Given the description of an element on the screen output the (x, y) to click on. 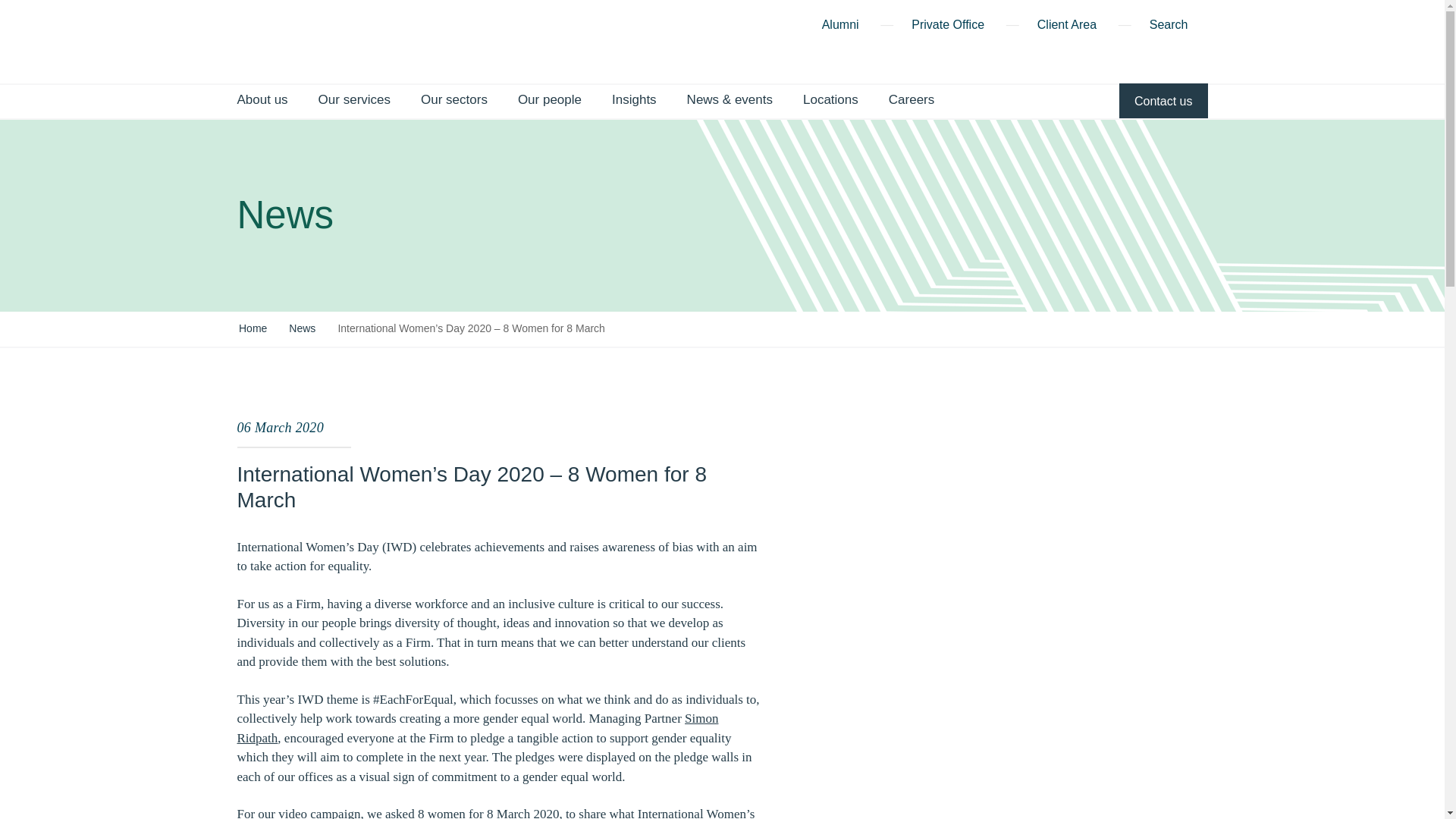
Client Area (1066, 26)
Private Office (947, 26)
Our sectors (453, 100)
Our services (354, 100)
Charles Russell Speechlys (274, 39)
Search (1179, 26)
About us (260, 100)
Charles Russell Speechlys (274, 41)
Alumni (840, 26)
